Given the description of an element on the screen output the (x, y) to click on. 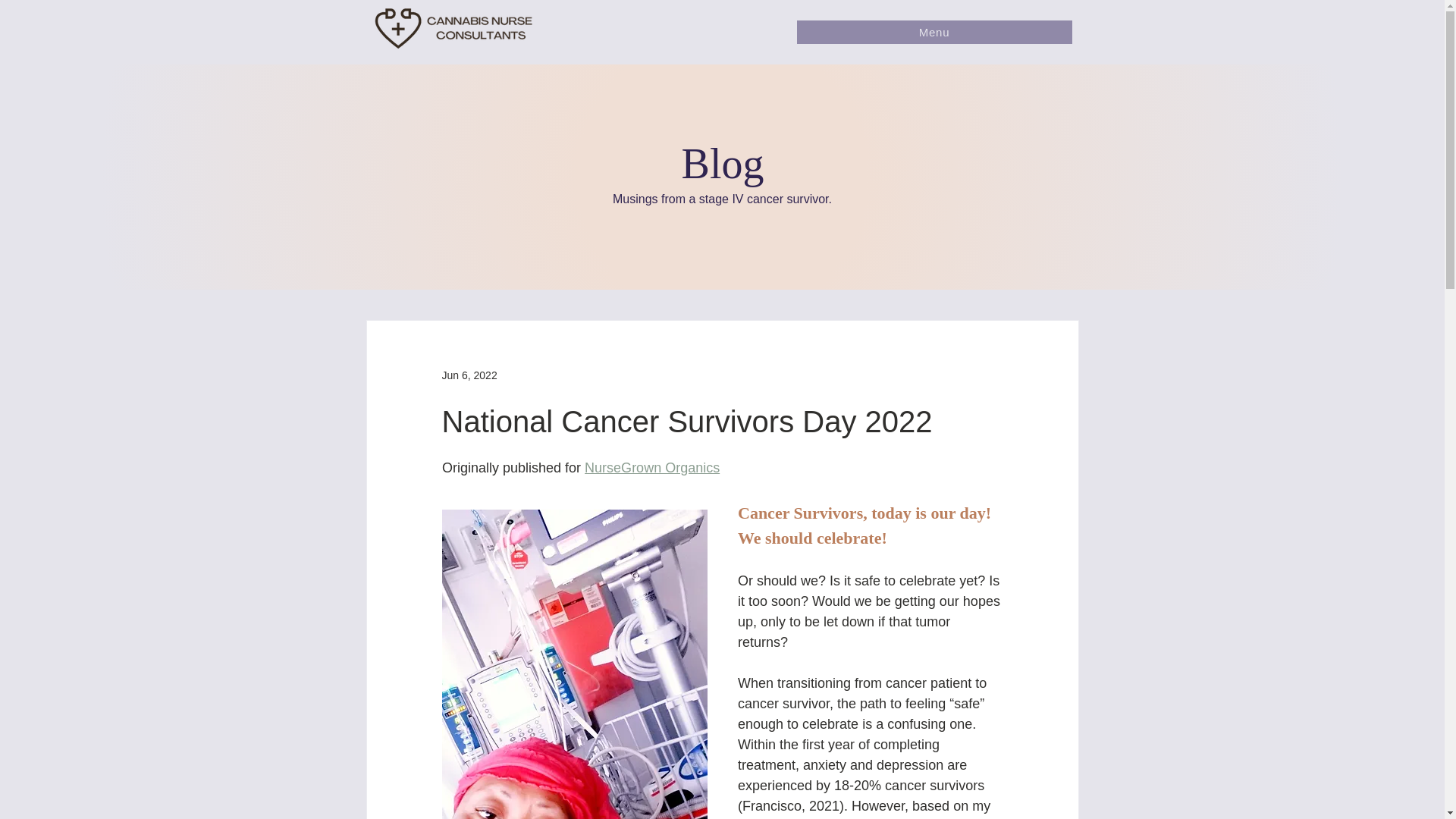
Jun 6, 2022 (468, 375)
MIDTONE LOGO.png (475, 31)
NurseGrown Organics (652, 467)
MIDTONE LOGO.png (398, 26)
